Given the description of an element on the screen output the (x, y) to click on. 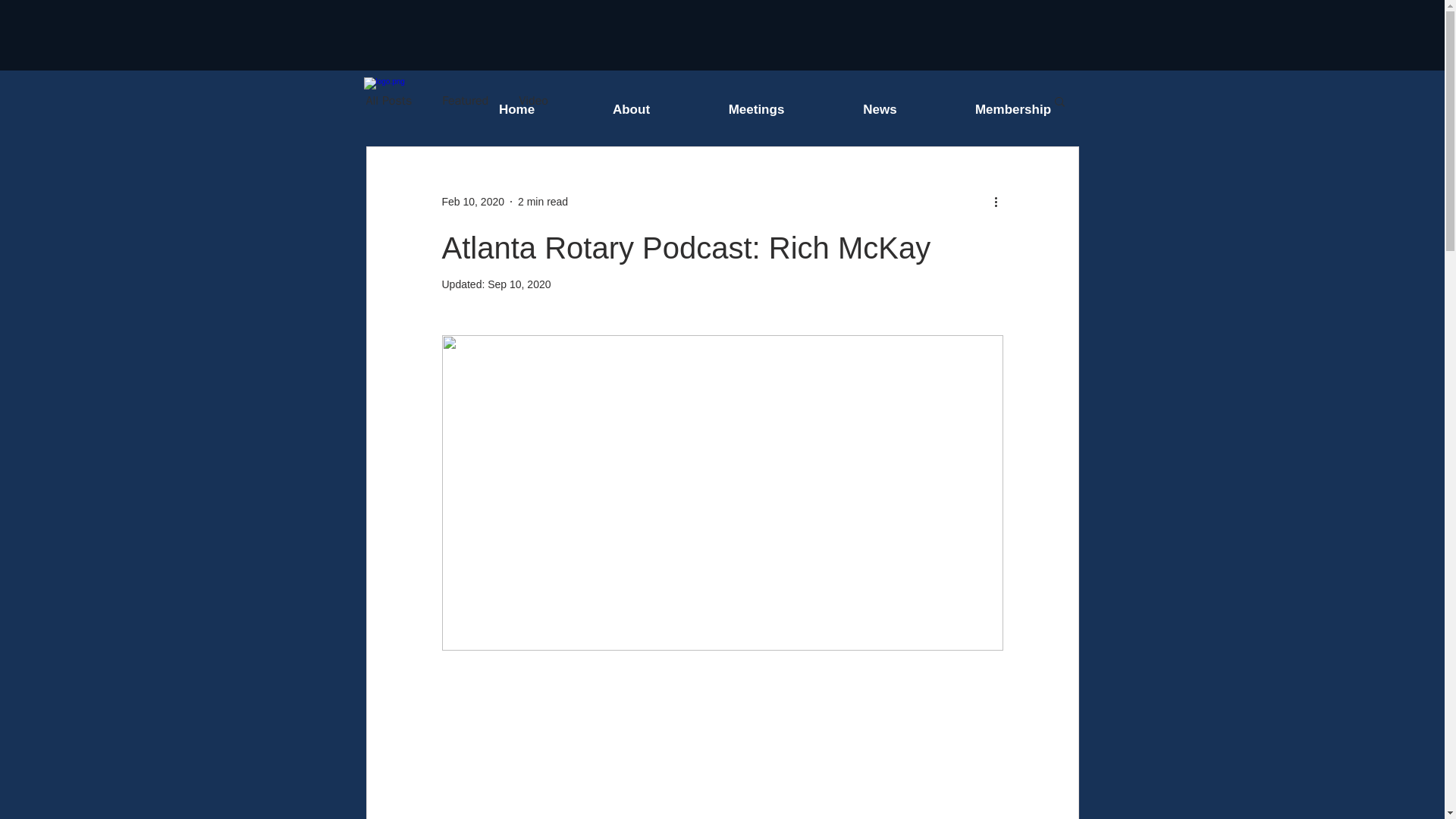
About (630, 109)
News (880, 109)
Meetings (756, 109)
Home (516, 109)
Featured (464, 100)
Video (533, 100)
Feb 10, 2020 (472, 201)
2 min read (542, 201)
All Posts (388, 100)
Sep 10, 2020 (518, 284)
Membership (1012, 109)
